Given the description of an element on the screen output the (x, y) to click on. 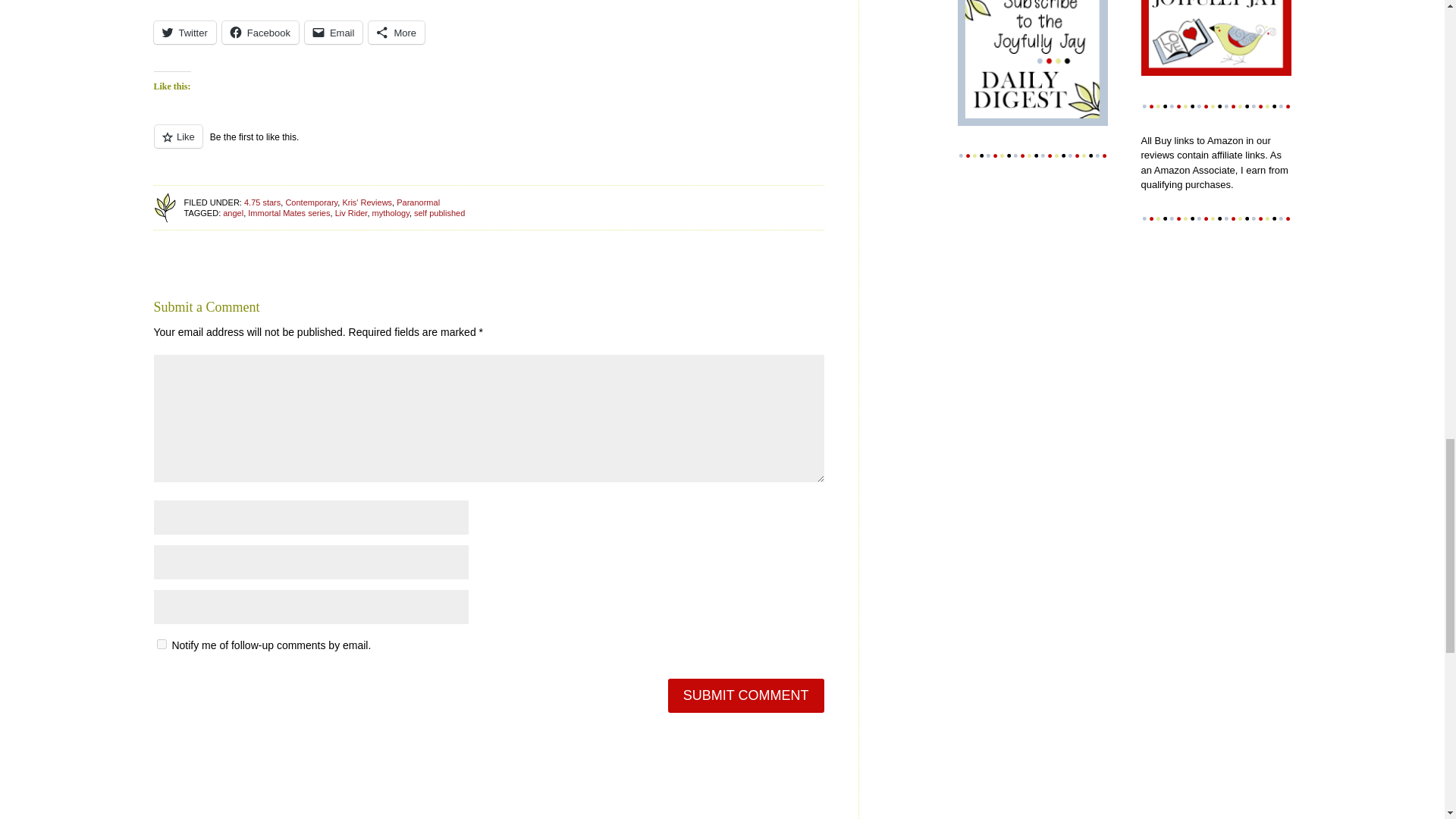
Click to share on Facebook (260, 32)
subscribe (160, 644)
Submit Comment (746, 695)
Like or Reblog (488, 145)
Click to email a link to a friend (333, 32)
Click to share on Twitter (183, 32)
